Given the description of an element on the screen output the (x, y) to click on. 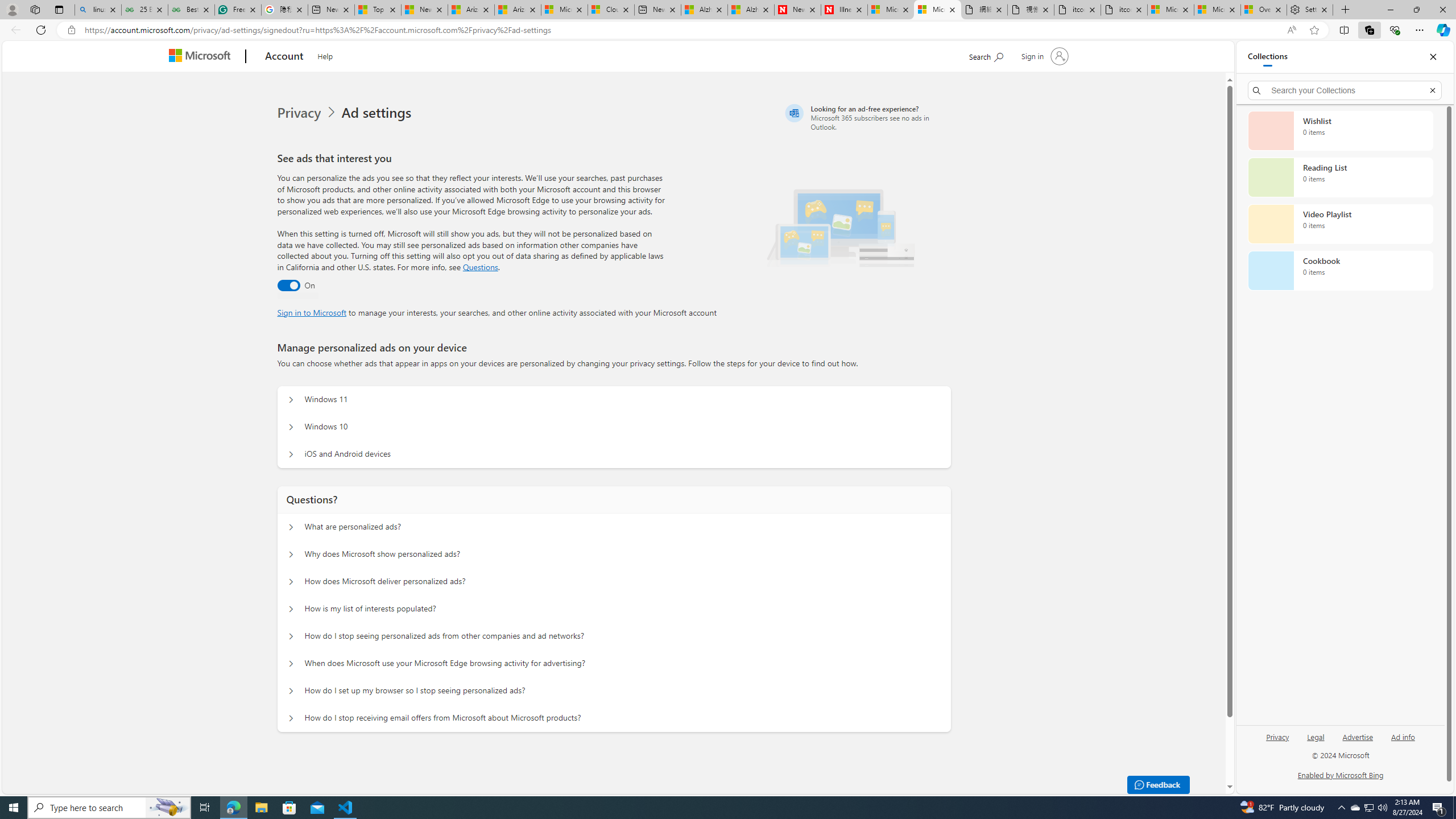
Illustration of multiple devices (840, 224)
Ad info (1402, 741)
Account (283, 56)
Looking for an ad-free experience? (865, 117)
News - MSN (424, 9)
Questions? How does Microsoft deliver personalized ads? (290, 581)
